Given the description of an element on the screen output the (x, y) to click on. 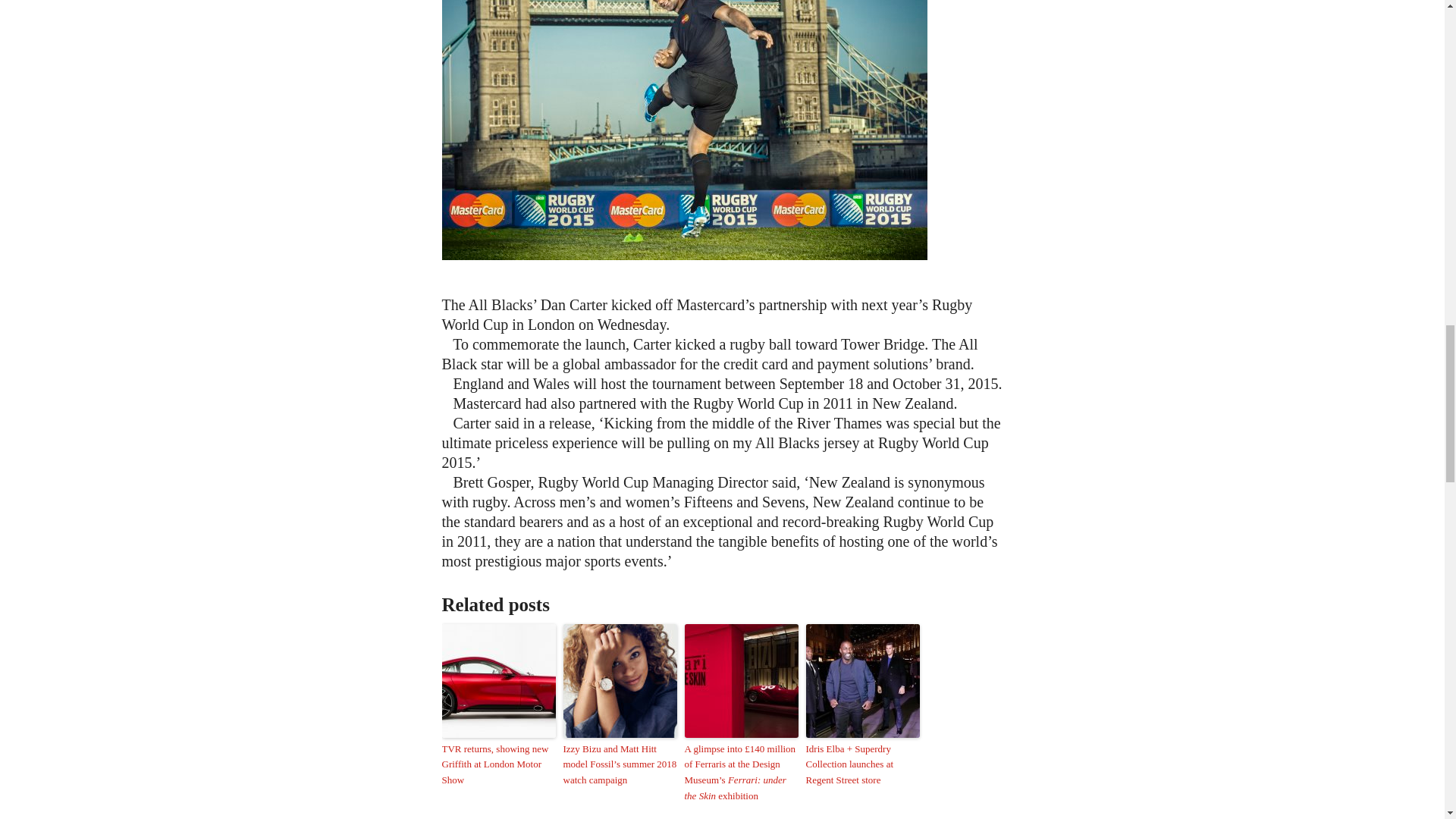
TVR returns, showing new Griffith at London Motor Show (497, 765)
